Given the description of an element on the screen output the (x, y) to click on. 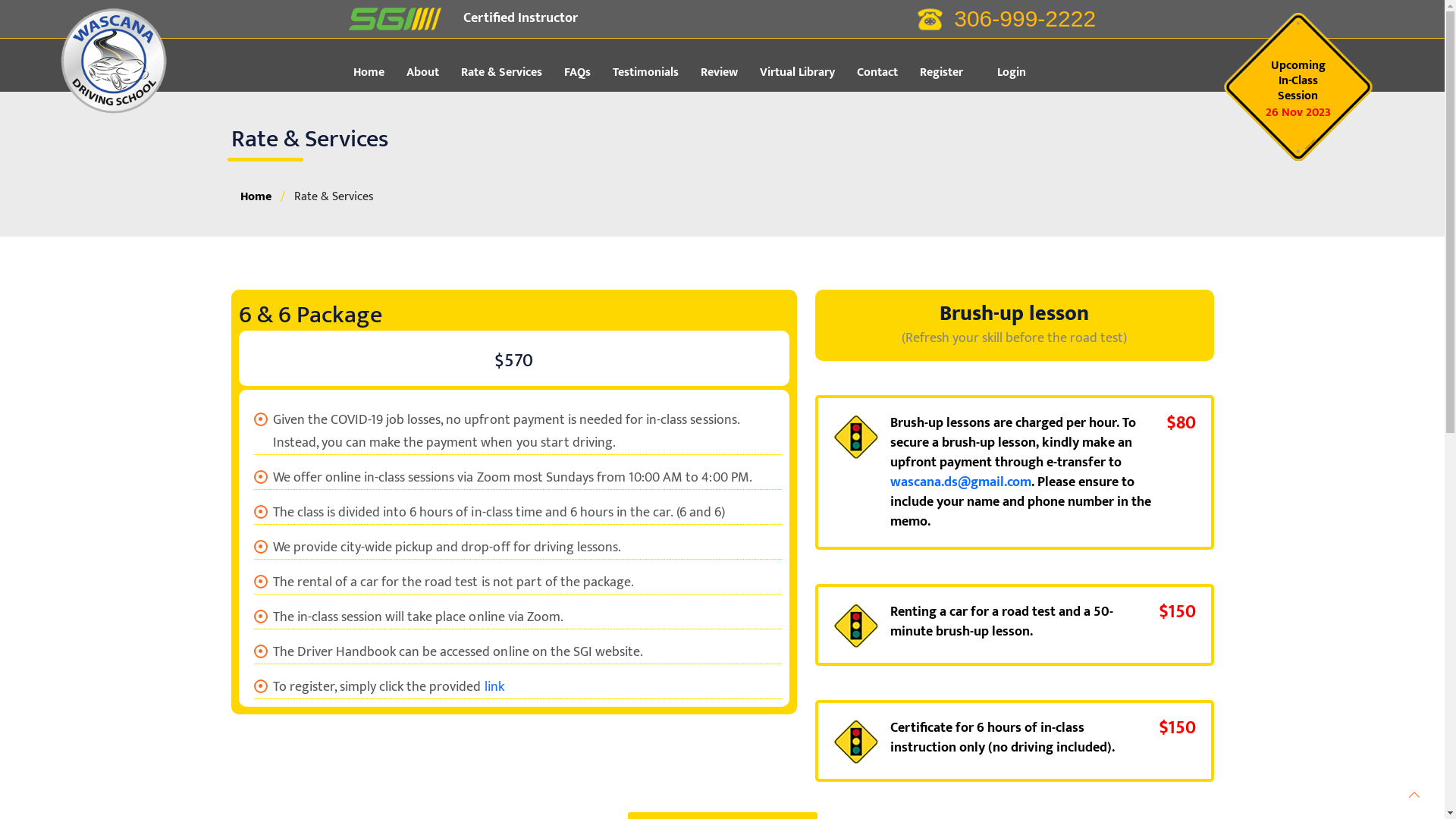
link Element type: text (494, 686)
Login Element type: text (1010, 72)
Home Element type: text (378, 72)
Review Element type: text (728, 72)
Contact Element type: text (886, 72)
About Element type: text (432, 72)
Home Element type: text (254, 196)
Virtual Library Element type: text (806, 72)
wascana.ds@gmail.com Element type: text (960, 481)
Testimonials Element type: text (654, 72)
Rate & Services Element type: text (511, 72)
Register Element type: text (950, 72)
FAQs Element type: text (586, 72)
